Given the description of an element on the screen output the (x, y) to click on. 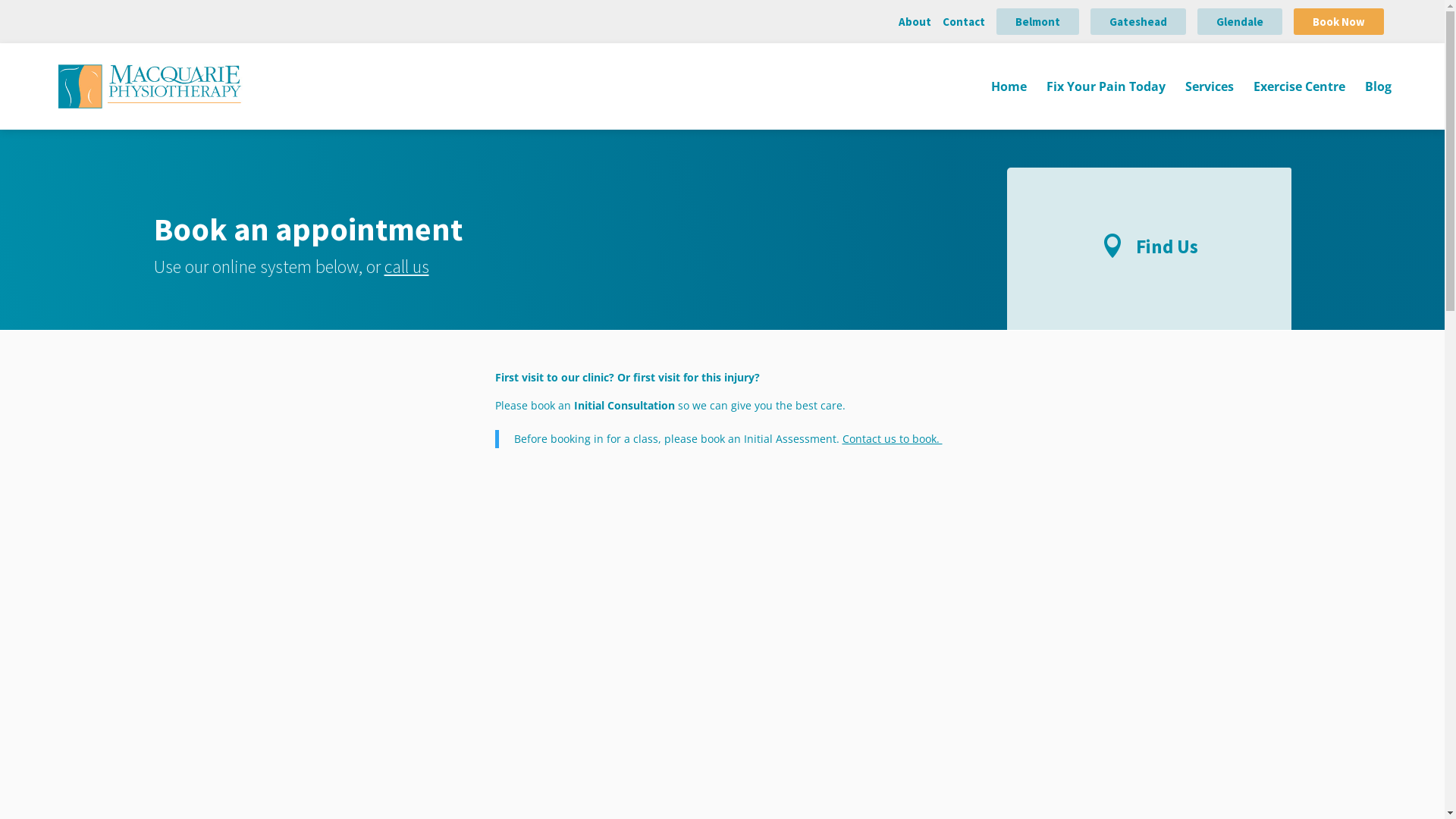
Home Element type: text (1008, 105)
Exercise Centre Element type: text (1299, 105)
Contact Element type: text (963, 21)
call us Element type: text (405, 266)
Contact us to book.  Element type: text (891, 438)
About Element type: text (914, 21)
Fix Your Pain Today Element type: text (1105, 105)
Blog Element type: text (1378, 105)
Glendale Element type: text (1239, 21)
Services Element type: text (1209, 105)
Gateshead Element type: text (1138, 21)
Belmont Element type: text (1037, 21)
Book Now Element type: text (1338, 21)
